Given the description of an element on the screen output the (x, y) to click on. 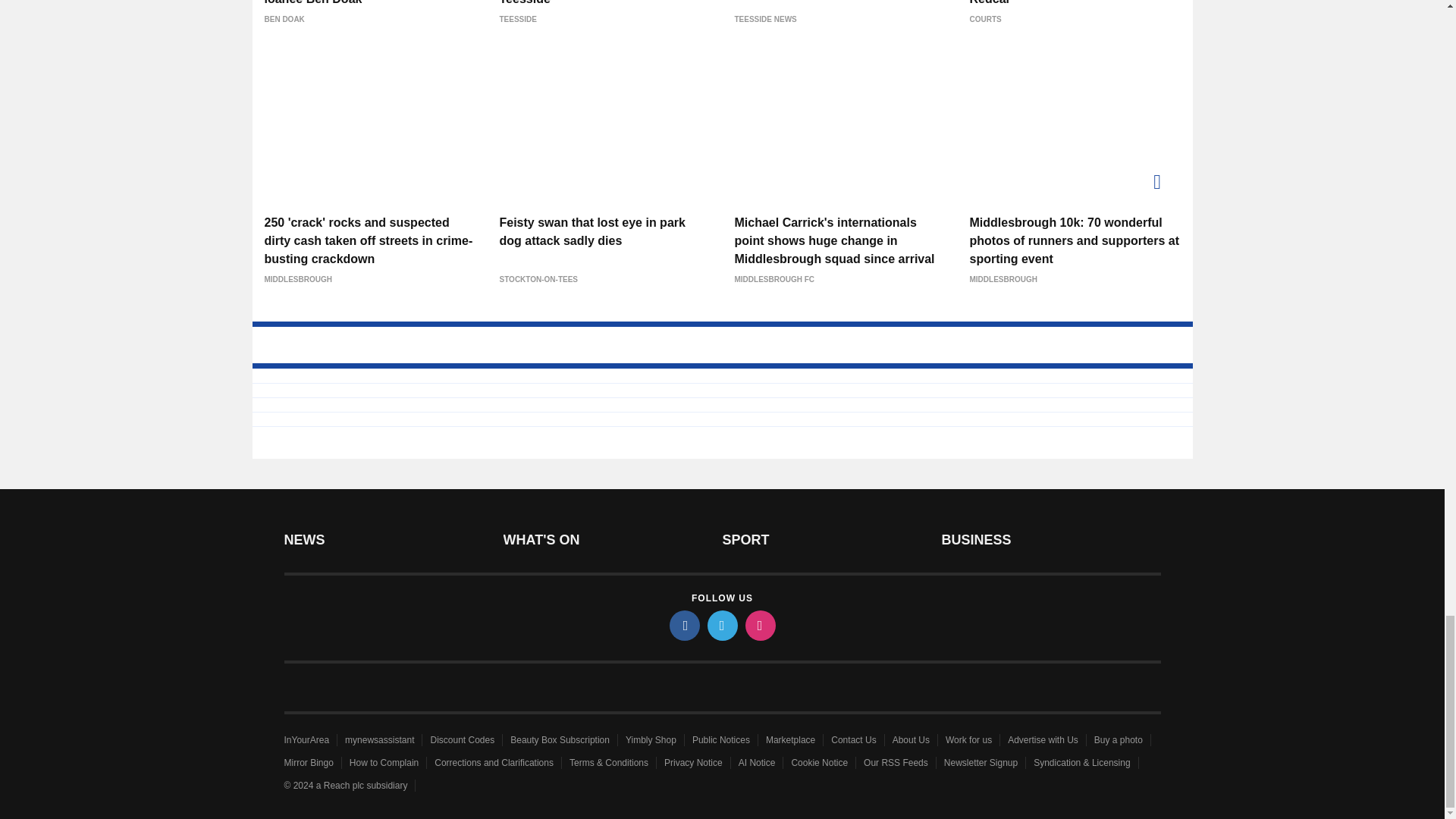
facebook (683, 625)
instagram (759, 625)
twitter (721, 625)
